Given the description of an element on the screen output the (x, y) to click on. 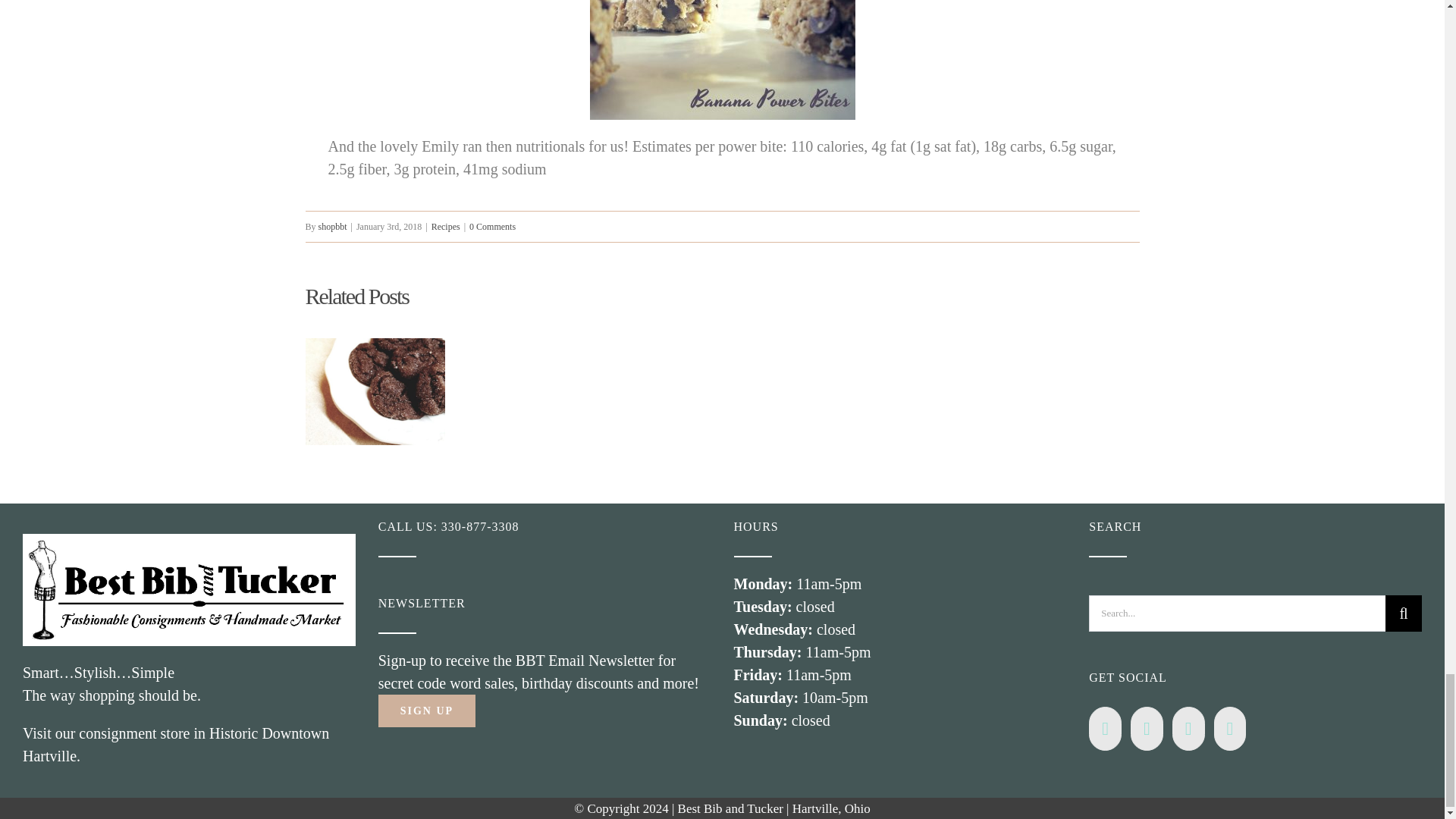
0 Comments (491, 226)
Recipes (445, 226)
shopbbt (332, 226)
Posts by shopbbt (332, 226)
